Given the description of an element on the screen output the (x, y) to click on. 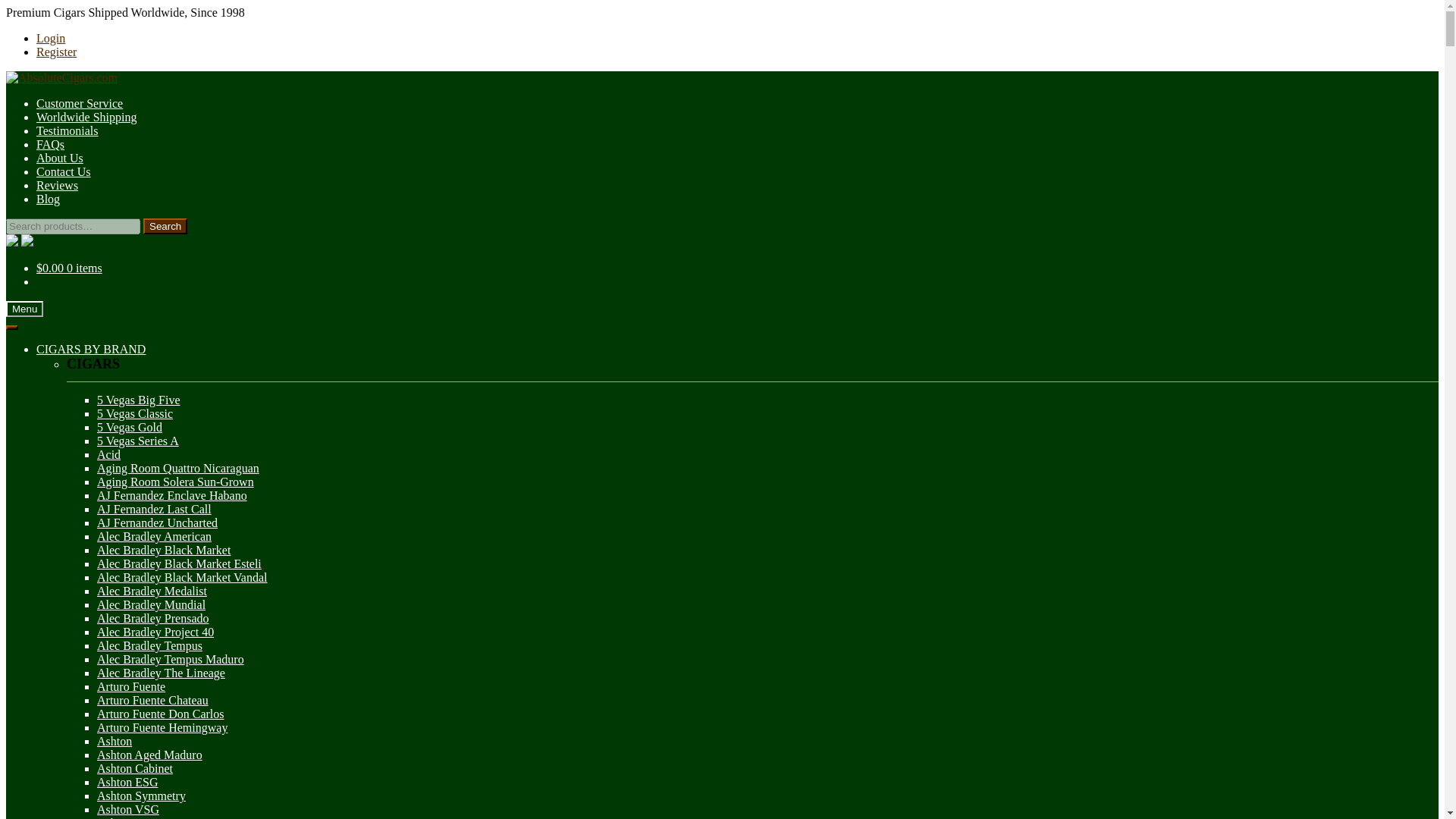
Login (50, 38)
Alec Bradley Tempus (149, 645)
Alec Bradley Medalist (151, 590)
5 Vegas Classic (135, 413)
AJ Fernandez Uncharted (156, 522)
Testimonials (67, 130)
Acid (108, 454)
 Register (56, 51)
Register (56, 51)
Login (50, 38)
Alec Bradley The Lineage (161, 672)
Alec Bradley Tempus Maduro (170, 658)
Alec Bradley Mundial (151, 604)
Contact Us (63, 171)
